Given the description of an element on the screen output the (x, y) to click on. 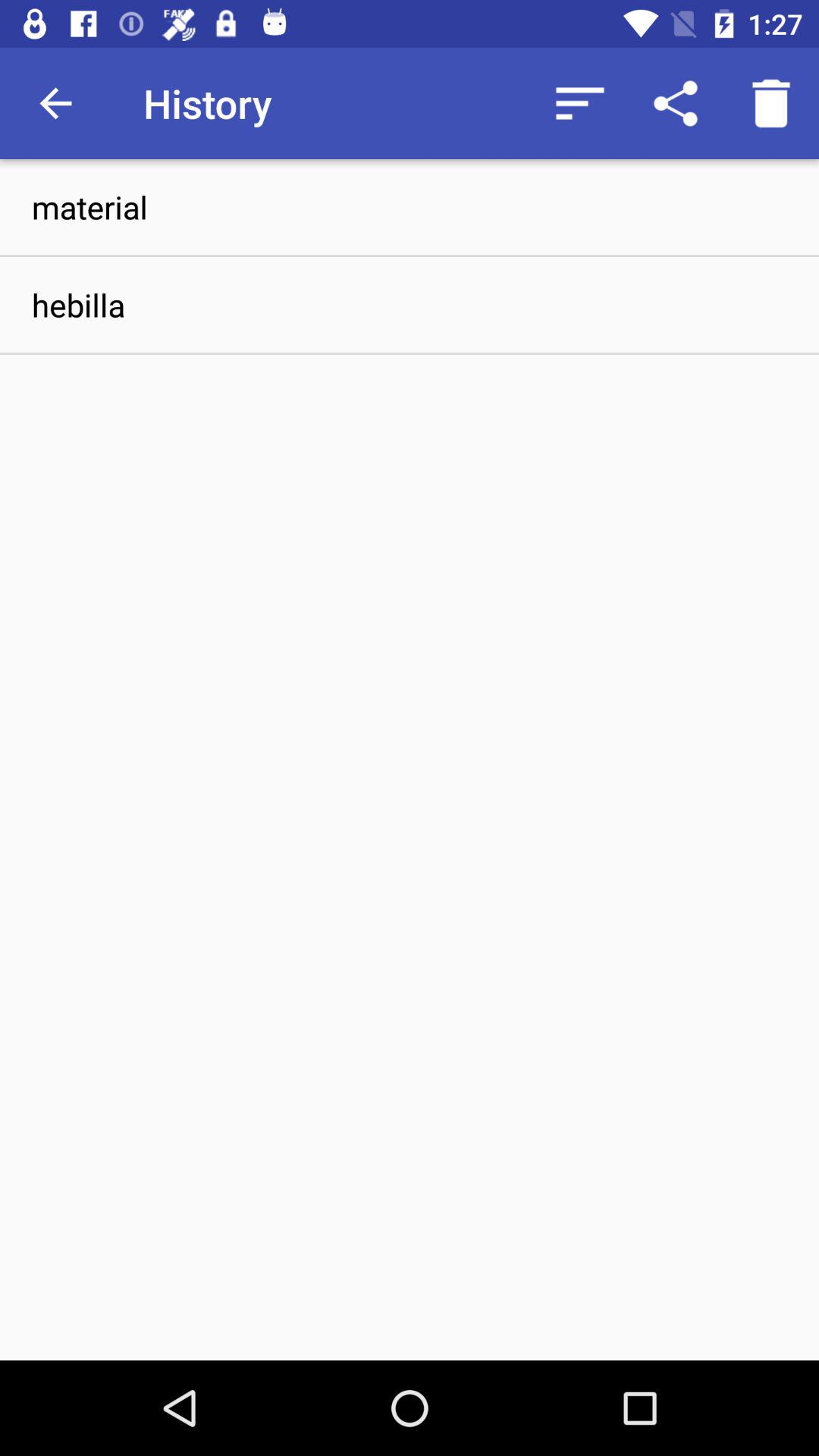
jump to hebilla (409, 304)
